Given the description of an element on the screen output the (x, y) to click on. 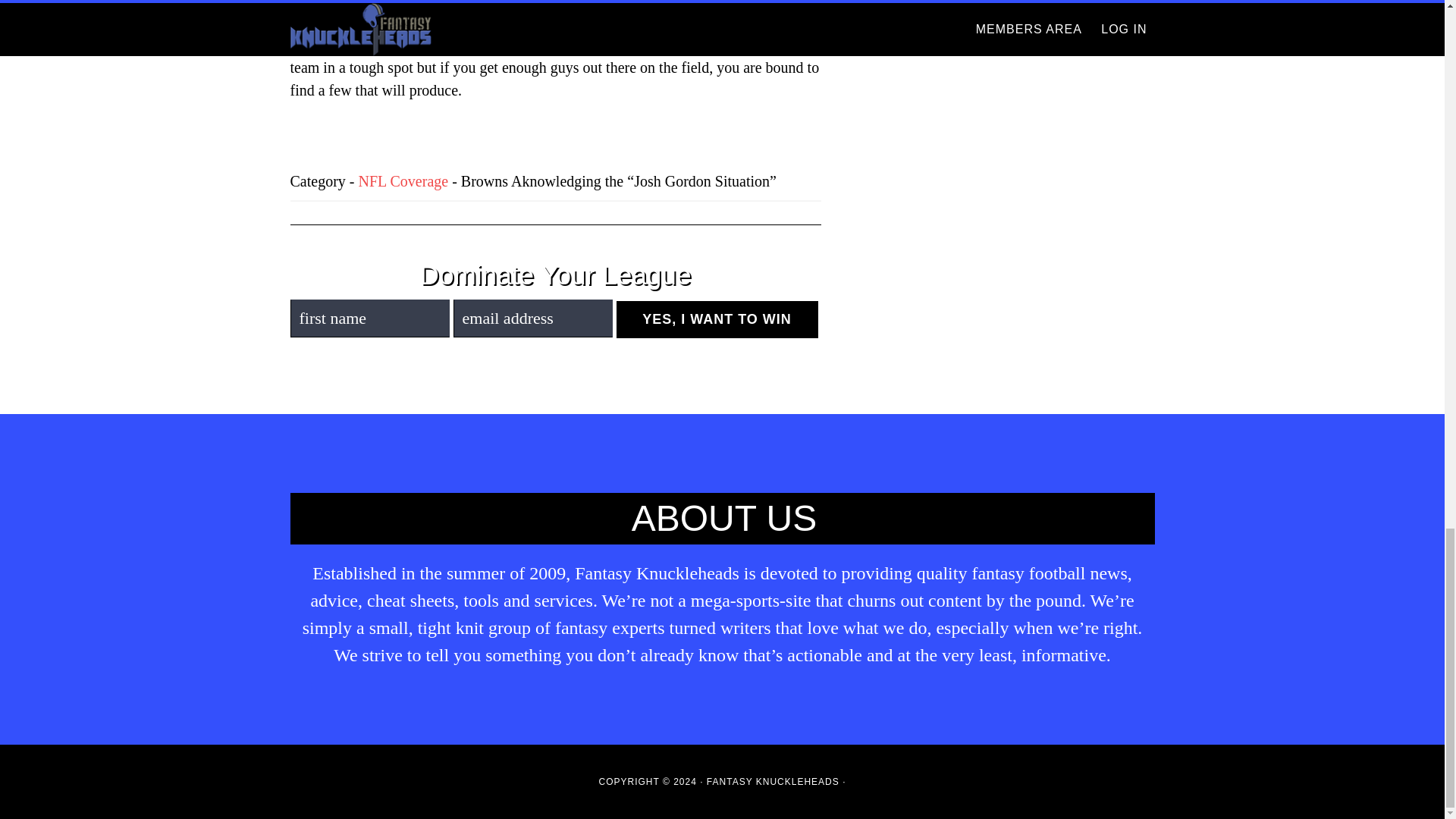
Yes, I Want To Win (715, 319)
NFL Coverage (403, 180)
Yes, I Want To Win (715, 319)
